Given the description of an element on the screen output the (x, y) to click on. 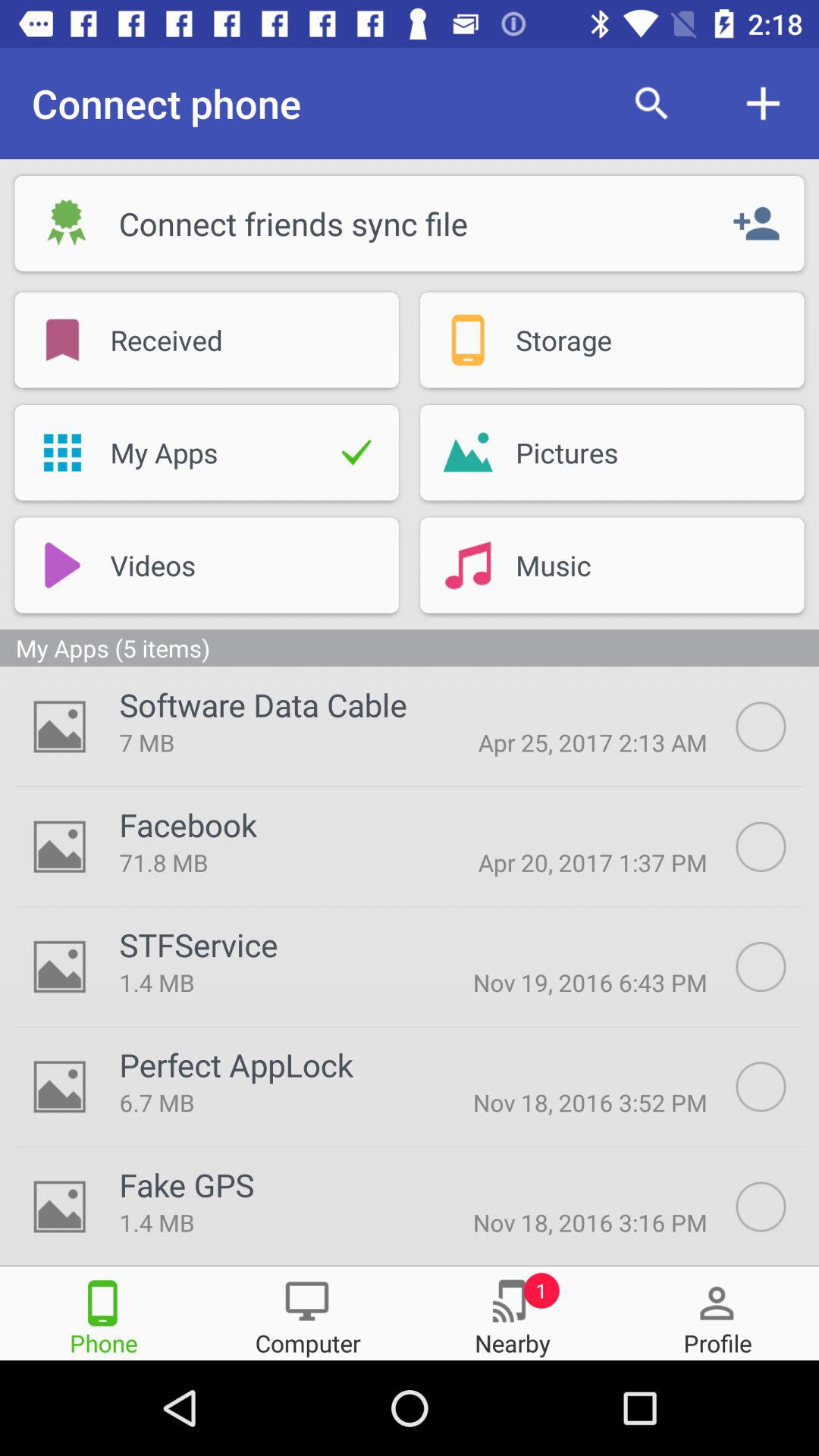
press music item (630, 565)
